Given the description of an element on the screen output the (x, y) to click on. 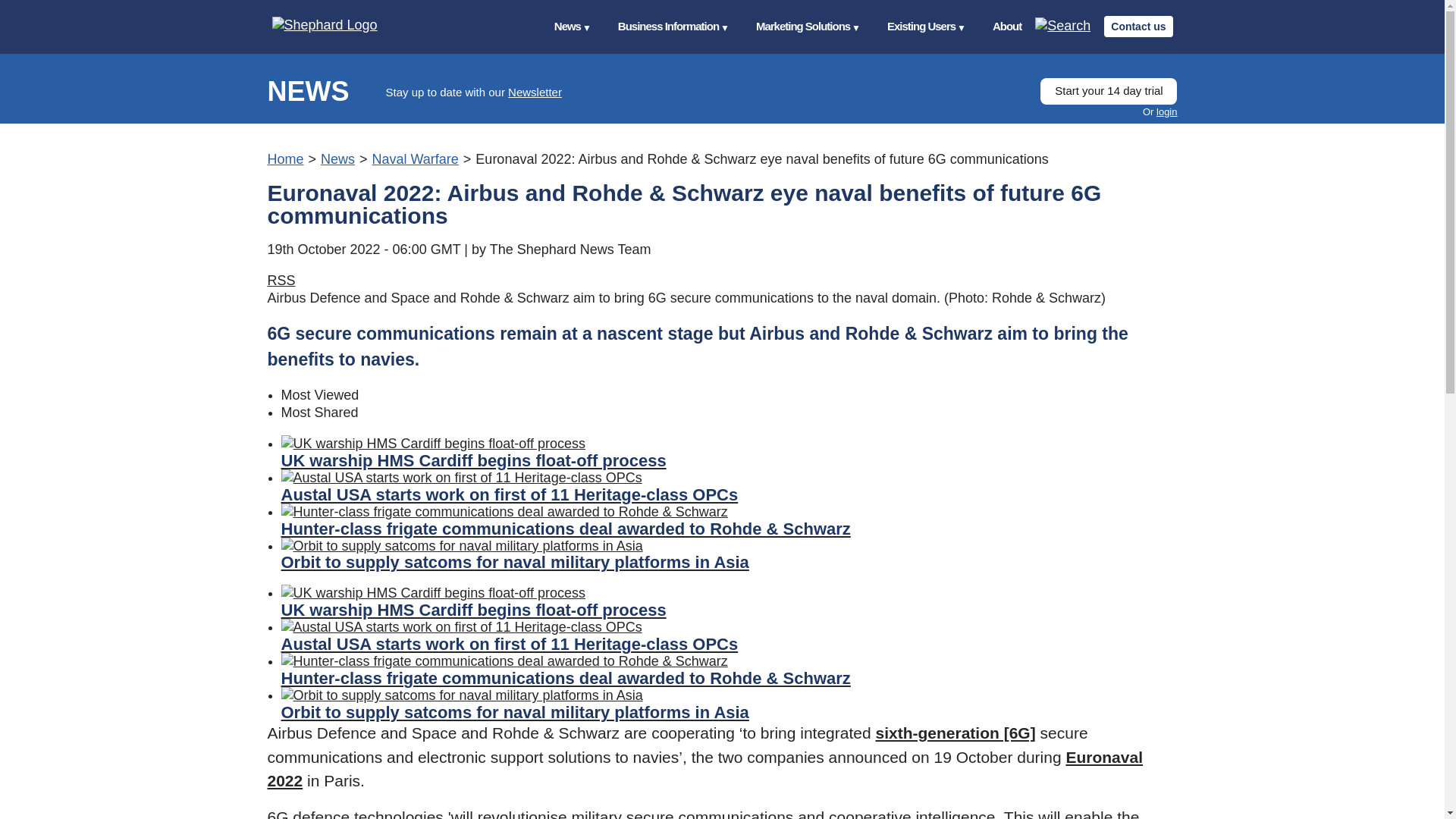
UK warship HMS Cardiff begins float-off process (728, 452)
Naval Warfare (414, 159)
Start your 14 day trial (1108, 90)
login (1166, 111)
Shephard (338, 26)
About (1006, 27)
Newsletter (535, 91)
Naval Warfare RSS Feed (280, 280)
Contact us (1137, 25)
Start a trial subscription (1108, 90)
